Given the description of an element on the screen output the (x, y) to click on. 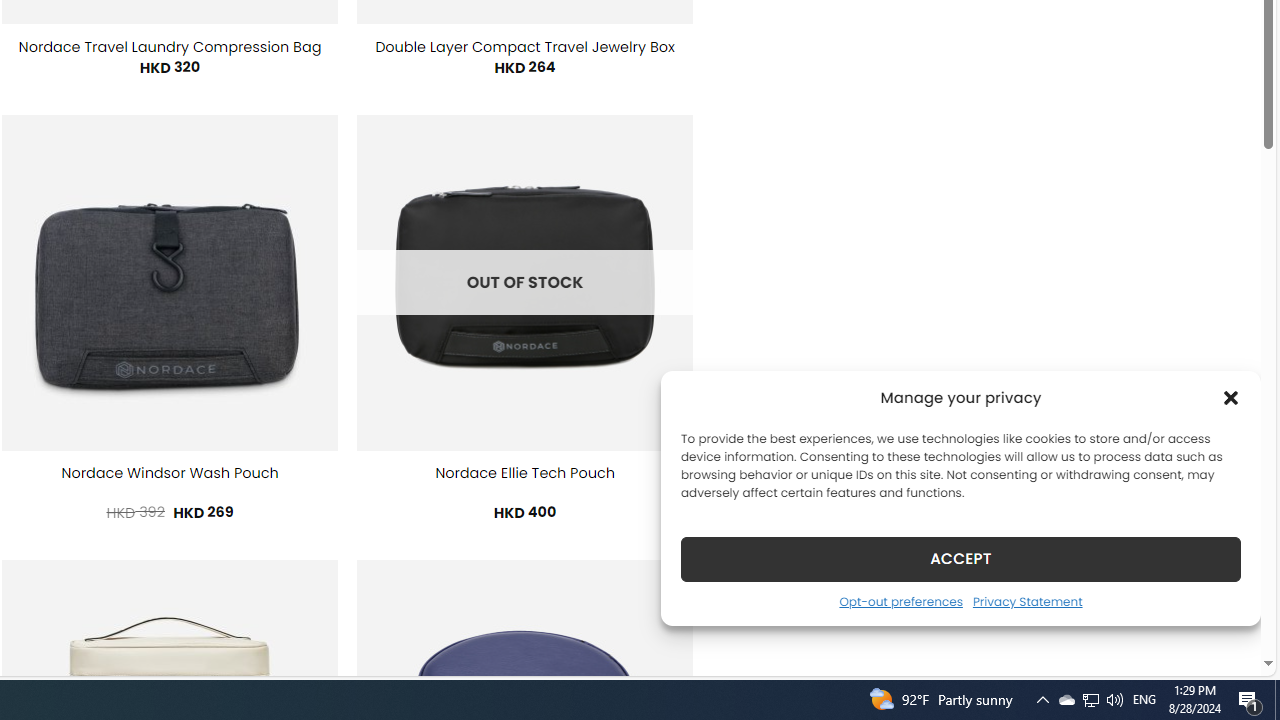
Double Layer Compact Travel Jewelry Box (524, 47)
Nordace Windsor Wash Pouch (170, 473)
ACCEPT (960, 558)
Class: cmplz-close (1231, 397)
Privacy Statement (1026, 601)
Opt-out preferences (900, 601)
Nordace Travel Laundry Compression Bag (169, 47)
Nordace Ellie Tech Pouch (524, 473)
